Given the description of an element on the screen output the (x, y) to click on. 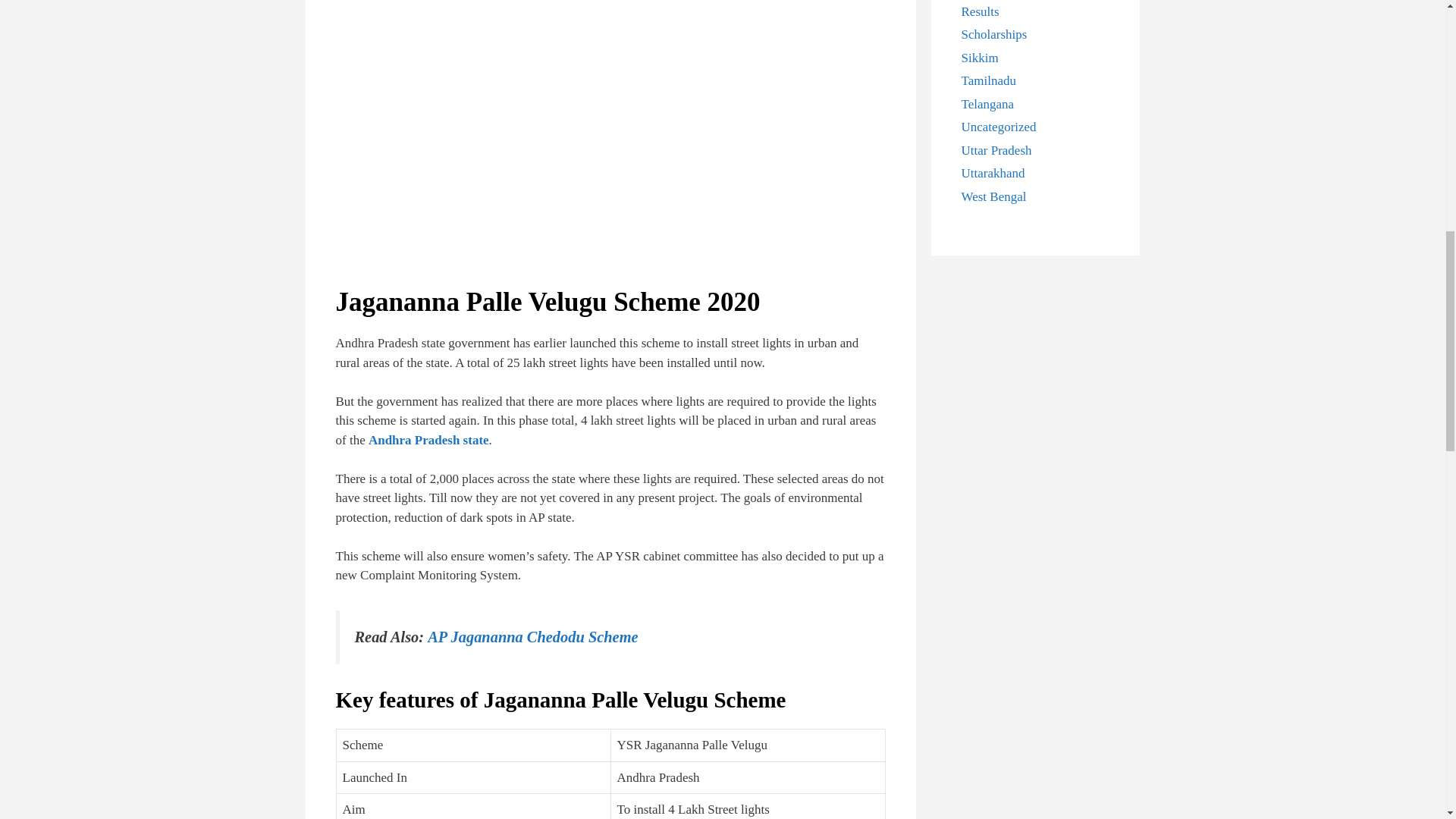
Andhra Pradesh state (428, 440)
AP Jagananna Chedodu Scheme (532, 636)
Scroll back to top (1406, 720)
